Given the description of an element on the screen output the (x, y) to click on. 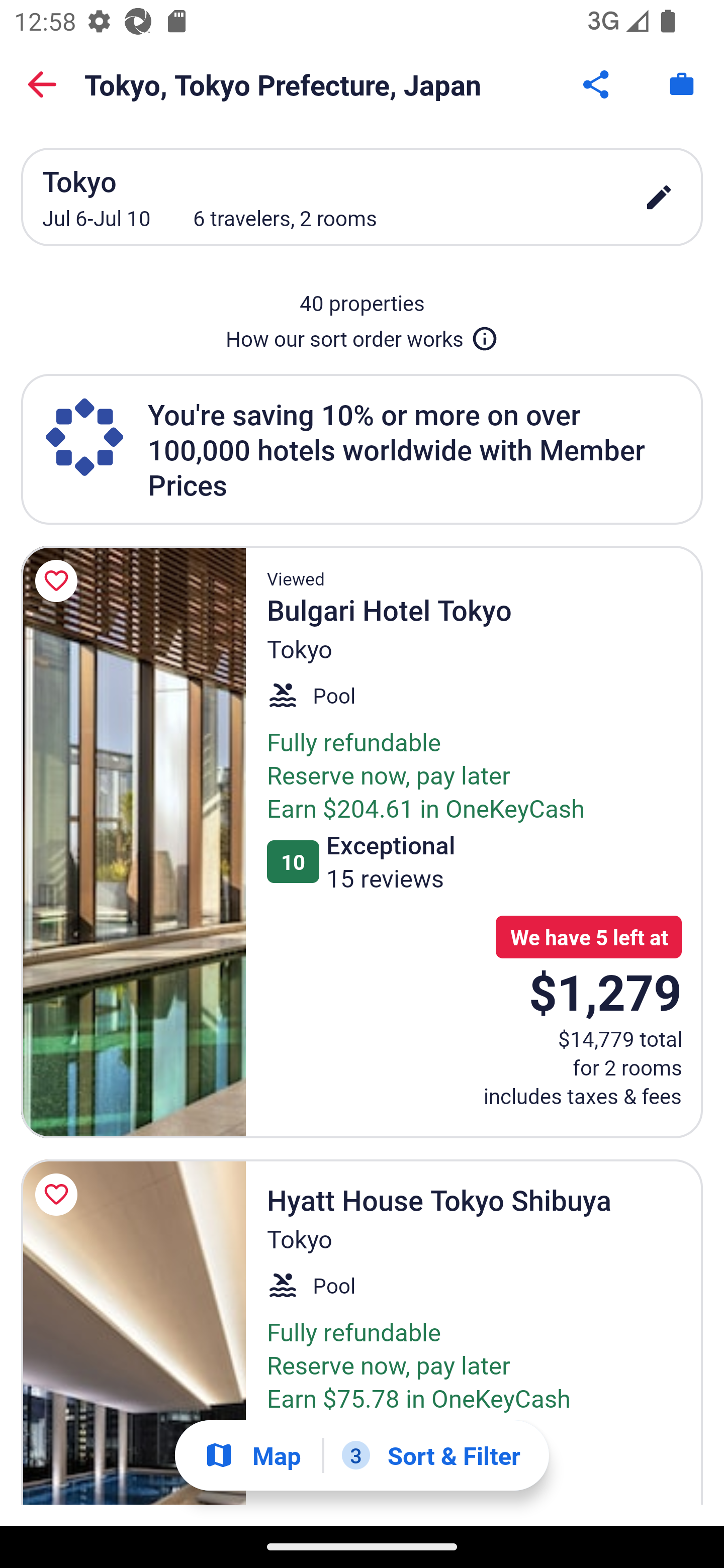
Back (42, 84)
Share Button (597, 84)
Trips. Button (681, 84)
Tokyo Jul 6-Jul 10 6 travelers, 2 rooms edit (361, 196)
How our sort order works (361, 334)
Save Bulgari Hotel Tokyo to a trip (59, 580)
Bulgari Hotel Tokyo (133, 841)
Save Hyatt House Tokyo Shibuya to a trip (59, 1194)
Hyatt House Tokyo Shibuya (133, 1331)
3 Sort & Filter 3 Filters applied. Filters Button (430, 1455)
Show map Map Show map Button (252, 1455)
